Given the description of an element on the screen output the (x, y) to click on. 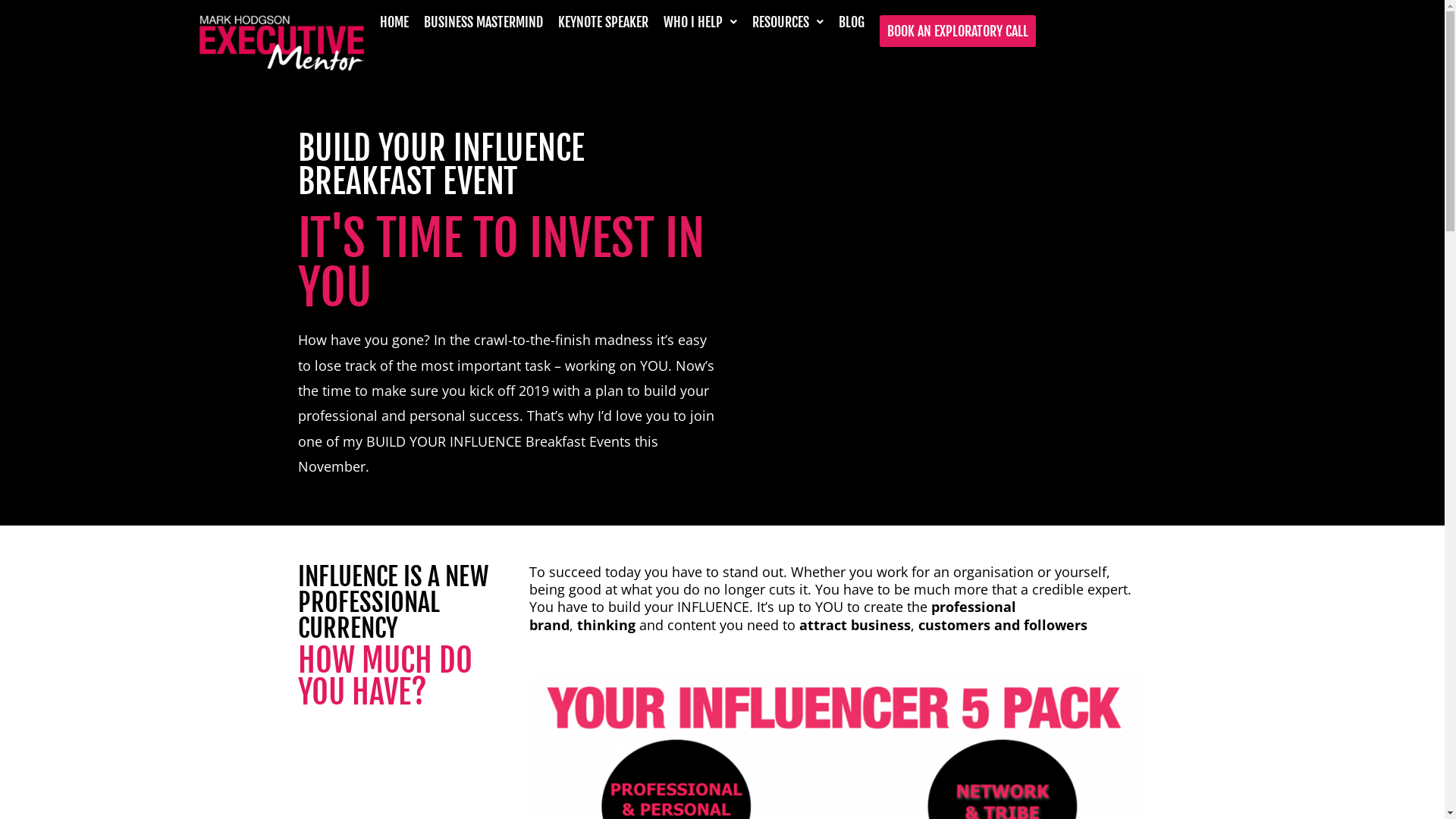
BOOK AN EXPLORATORY CALL Element type: text (957, 31)
HOME Element type: text (393, 21)
KEYNOTE SPEAKER Element type: text (603, 21)
WHO I HELP Element type: text (699, 21)
RESOURCES Element type: text (787, 21)
BUSINESS MASTERMIND Element type: text (482, 21)
BLOG Element type: text (851, 21)
